Given the description of an element on the screen output the (x, y) to click on. 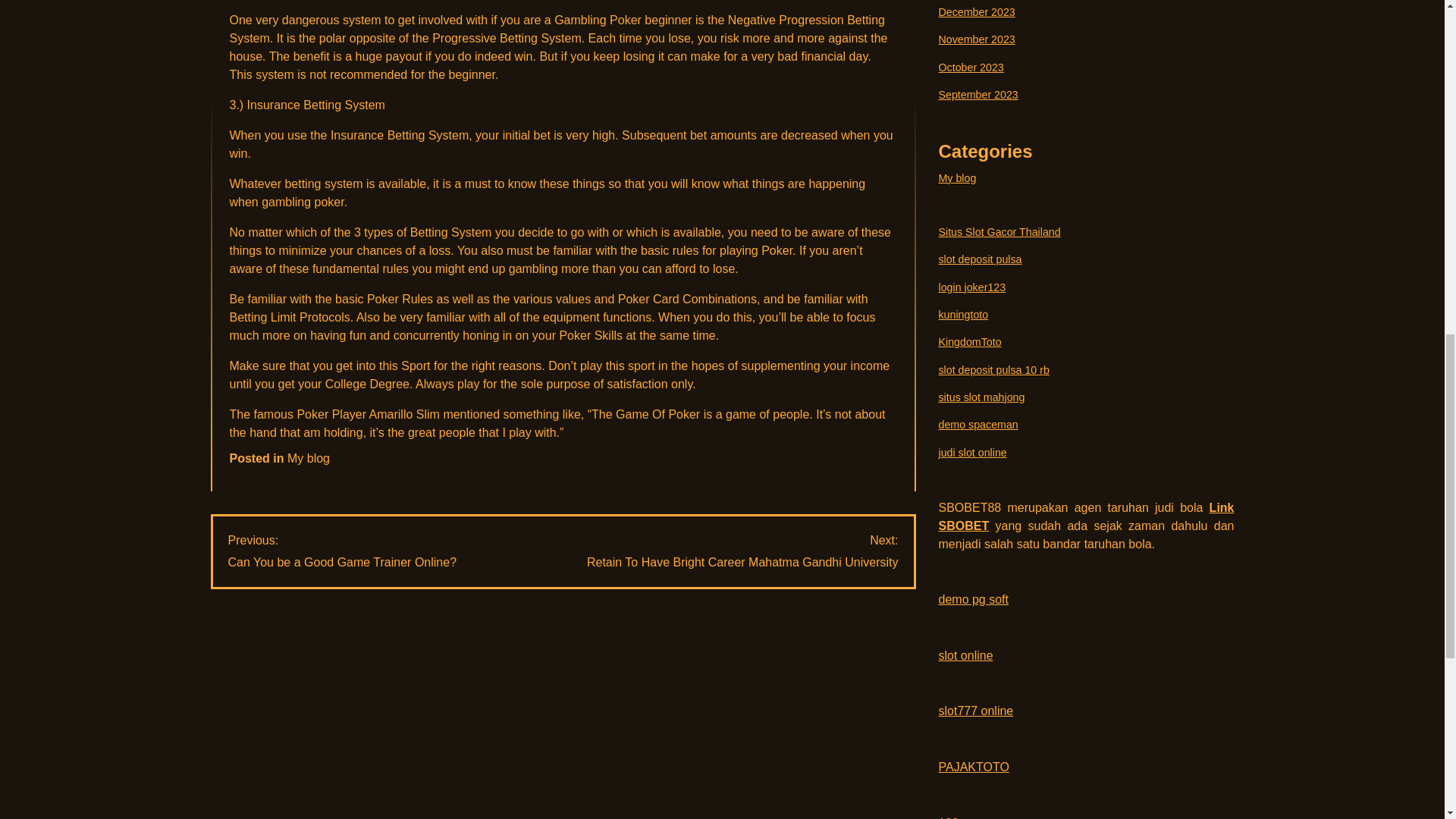
Situs Slot Gacor Thailand (1000, 232)
September 2023 (742, 551)
October 2023 (978, 94)
December 2023 (971, 67)
slot deposit pulsa (976, 11)
login joker123 (342, 551)
kuningtoto (980, 259)
November 2023 (972, 287)
